Given the description of an element on the screen output the (x, y) to click on. 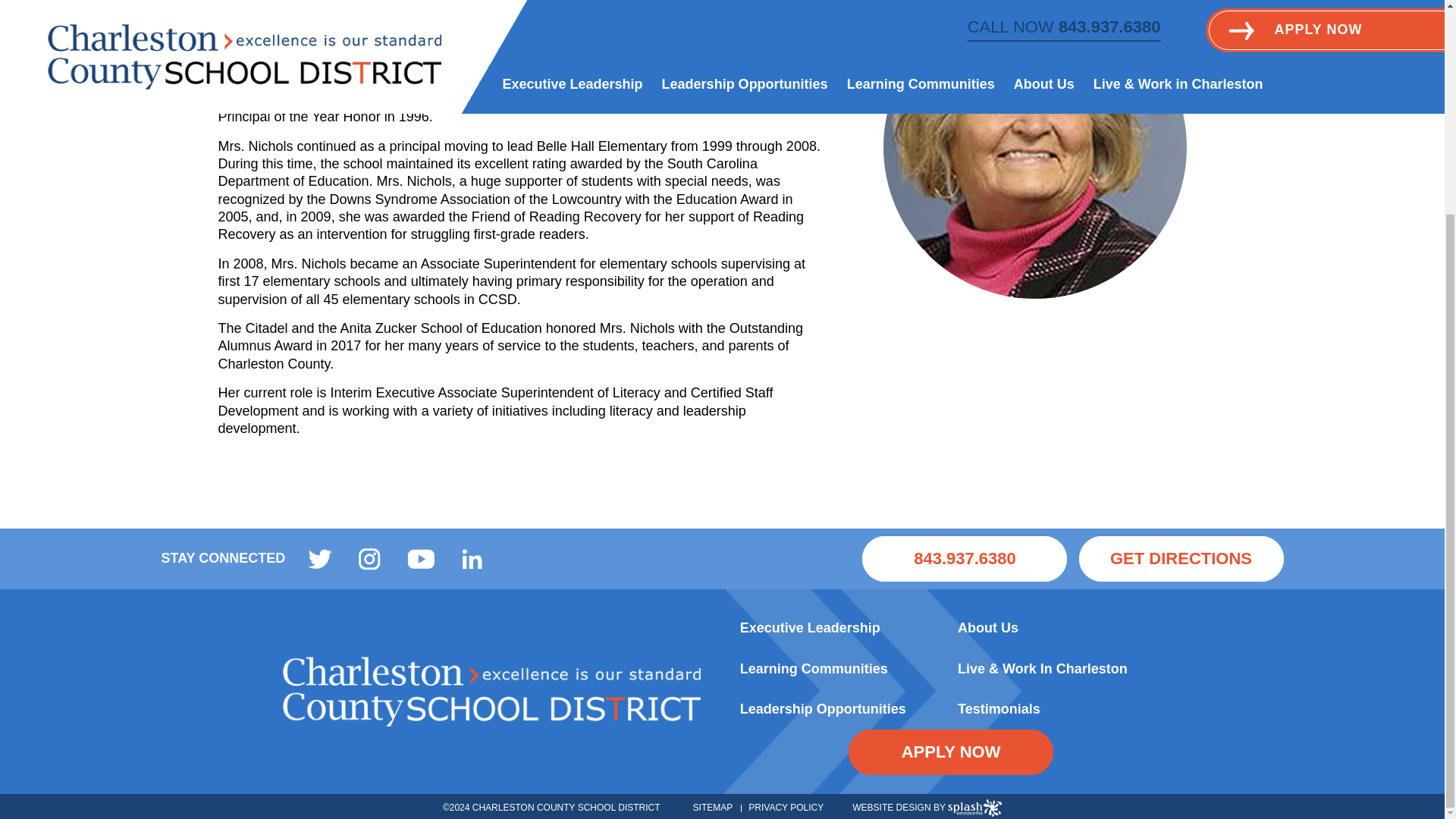
white logo (491, 691)
Executive Leadership (809, 627)
SITEMAP (713, 808)
APPLY NOW (950, 751)
Learning Communities (813, 668)
Leadership Opportunities (822, 708)
Testimonials (999, 708)
GET DIRECTIONS (1180, 558)
About Us (987, 627)
843.937.6380 (964, 558)
